Given the description of an element on the screen output the (x, y) to click on. 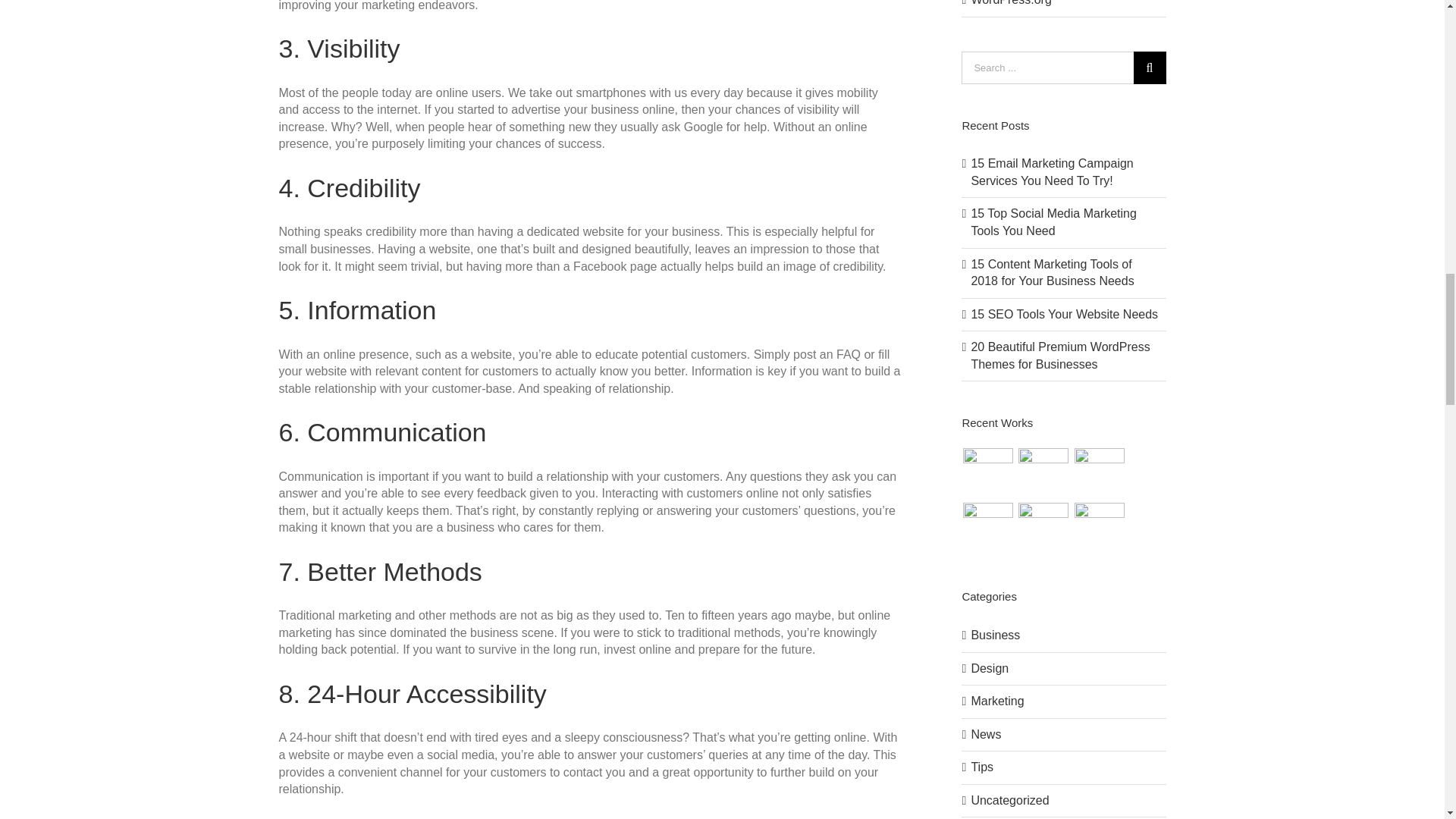
Boomerang (986, 472)
Dent (1043, 472)
